Given the description of an element on the screen output the (x, y) to click on. 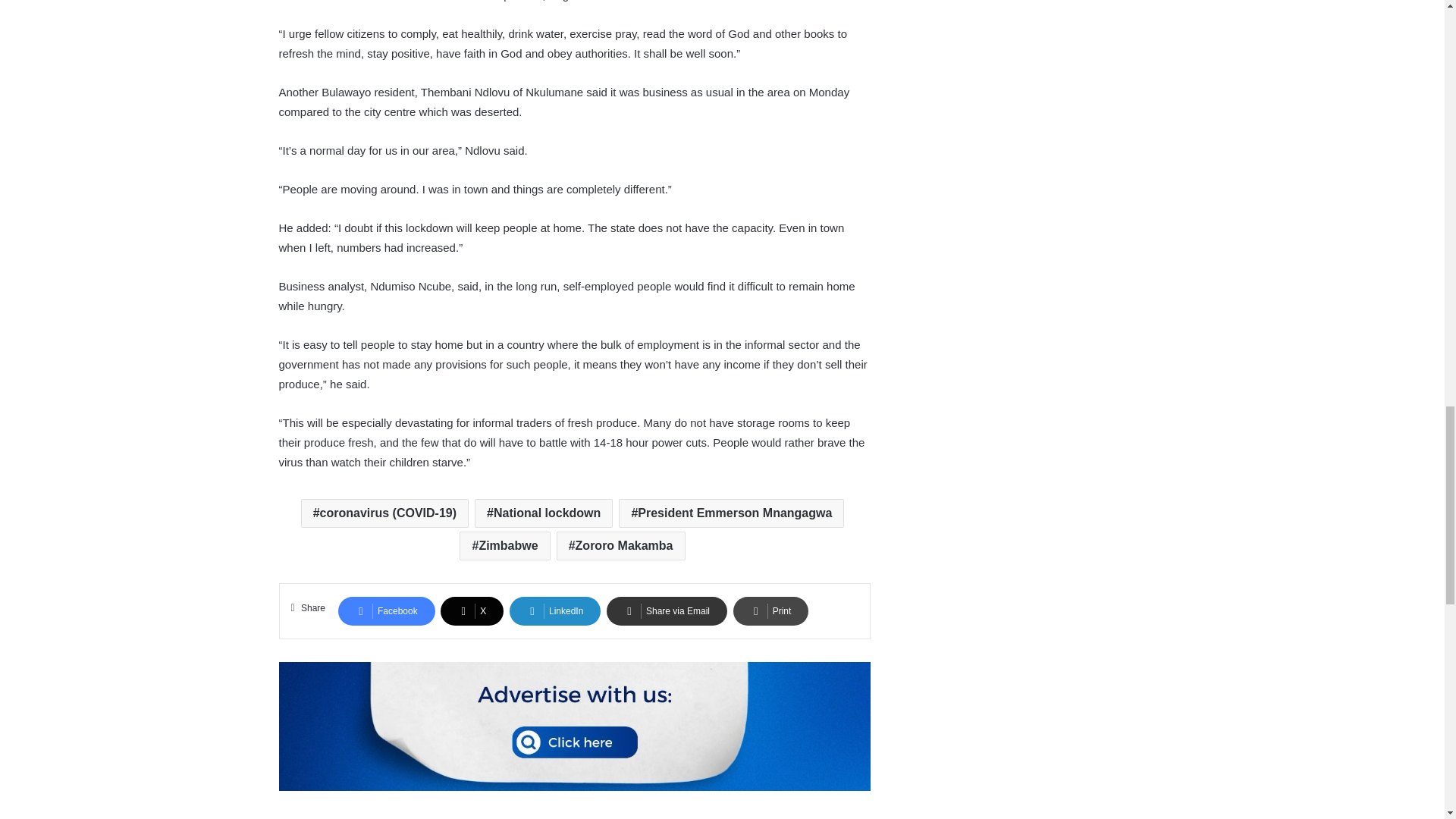
X (472, 611)
LinkedIn (554, 611)
Facebook (386, 611)
National lockdown (543, 512)
